Given the description of an element on the screen output the (x, y) to click on. 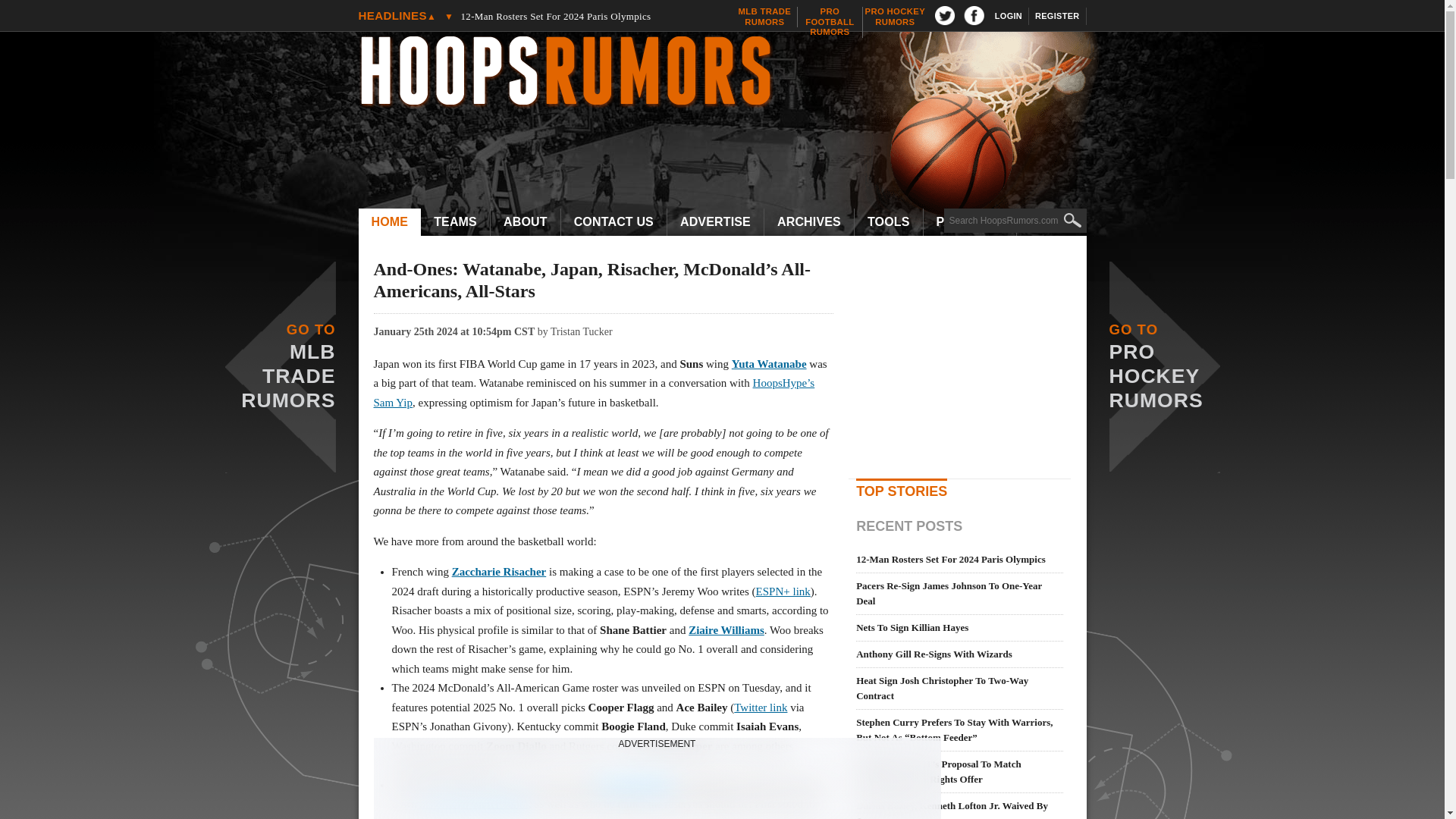
Darius Bazley, Kenneth Lofton Jr. Waived By Jazz (585, 3)
Search (895, 16)
REGISTER (829, 21)
LOGIN (1057, 16)
HOME (729, 72)
teams (1008, 16)
12-Man Rosters Set For 2024 Paris Olympics (389, 221)
Search for: (455, 221)
TEAMS (764, 16)
